Given the description of an element on the screen output the (x, y) to click on. 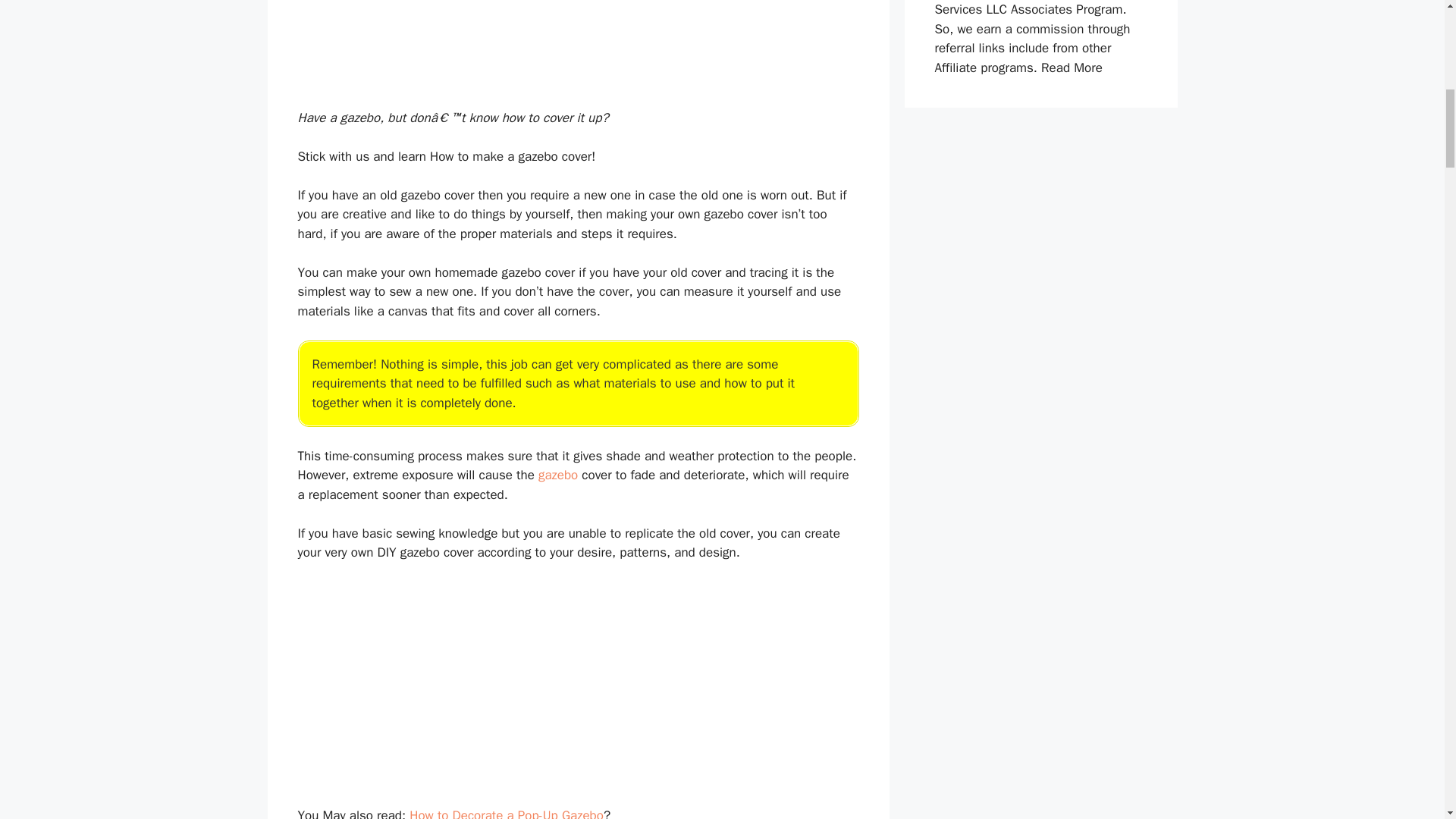
gazebo (558, 474)
Advertisement (576, 48)
Advertisement (576, 687)
How to Decorate a Pop-Up Gazebo (506, 812)
